Given the description of an element on the screen output the (x, y) to click on. 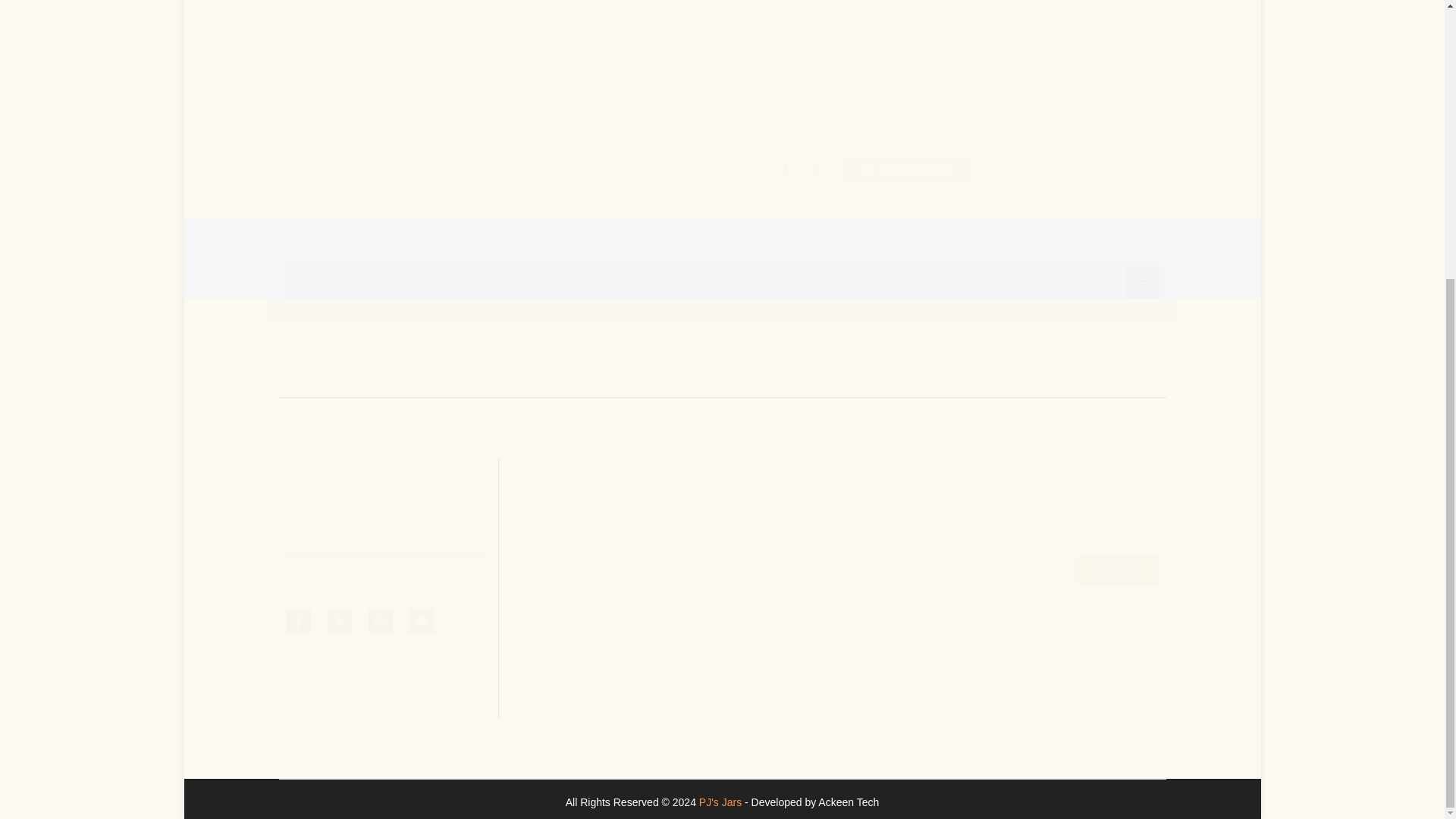
Sharbats (532, 701)
Follow on YouTube (420, 620)
ADD TO CART (903, 81)
Reviews (721, 282)
Spices (526, 603)
Achaars (529, 530)
Follow on Twitter (339, 620)
Pastes (527, 578)
Follow on Facebook (298, 620)
Follow on Instagram (379, 620)
